Given the description of an element on the screen output the (x, y) to click on. 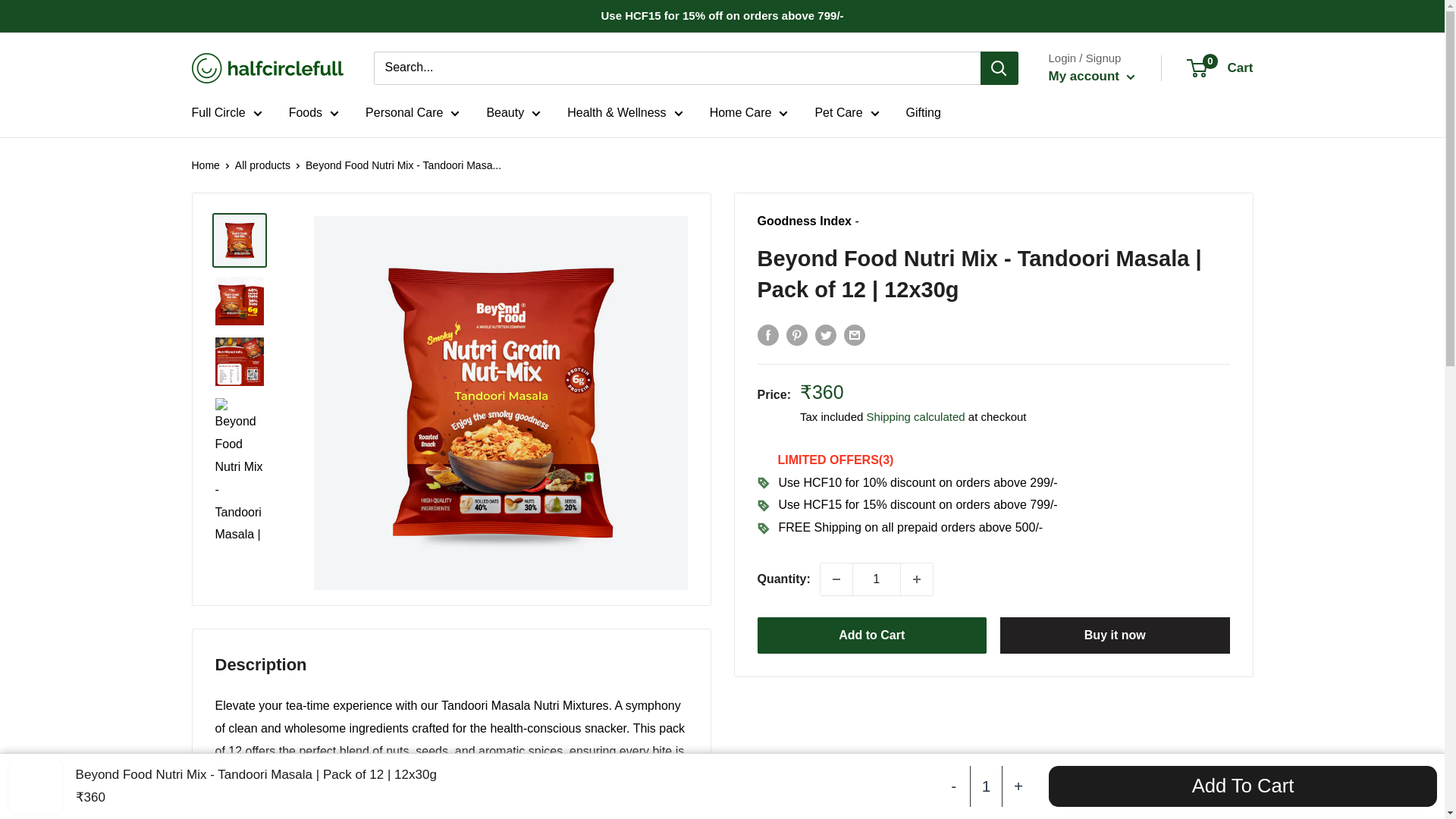
Increase quantity by 1 (917, 579)
1 (876, 579)
Decrease quantity by 1 (836, 579)
